Given the description of an element on the screen output the (x, y) to click on. 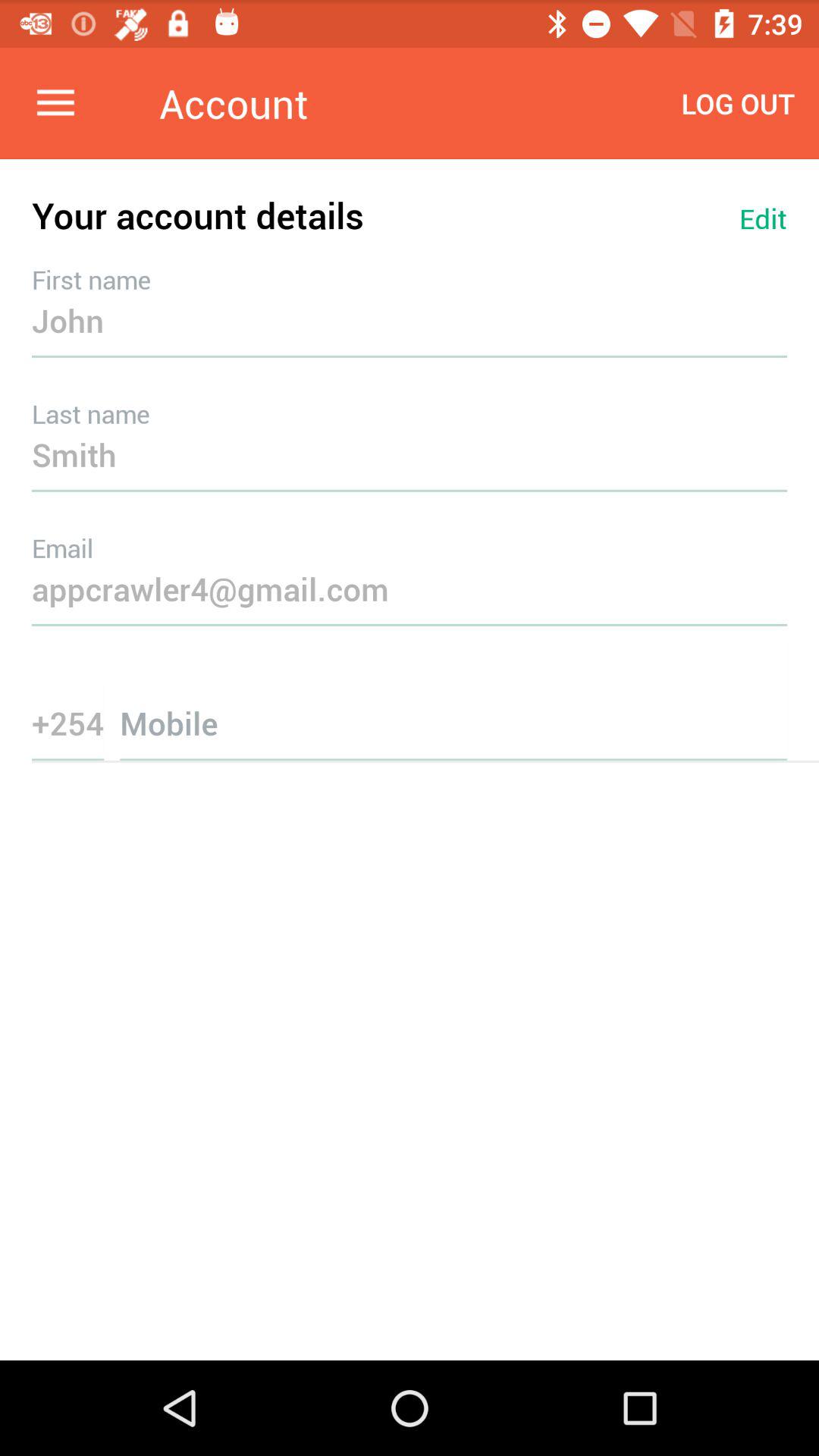
select icon above the john item (763, 218)
